Given the description of an element on the screen output the (x, y) to click on. 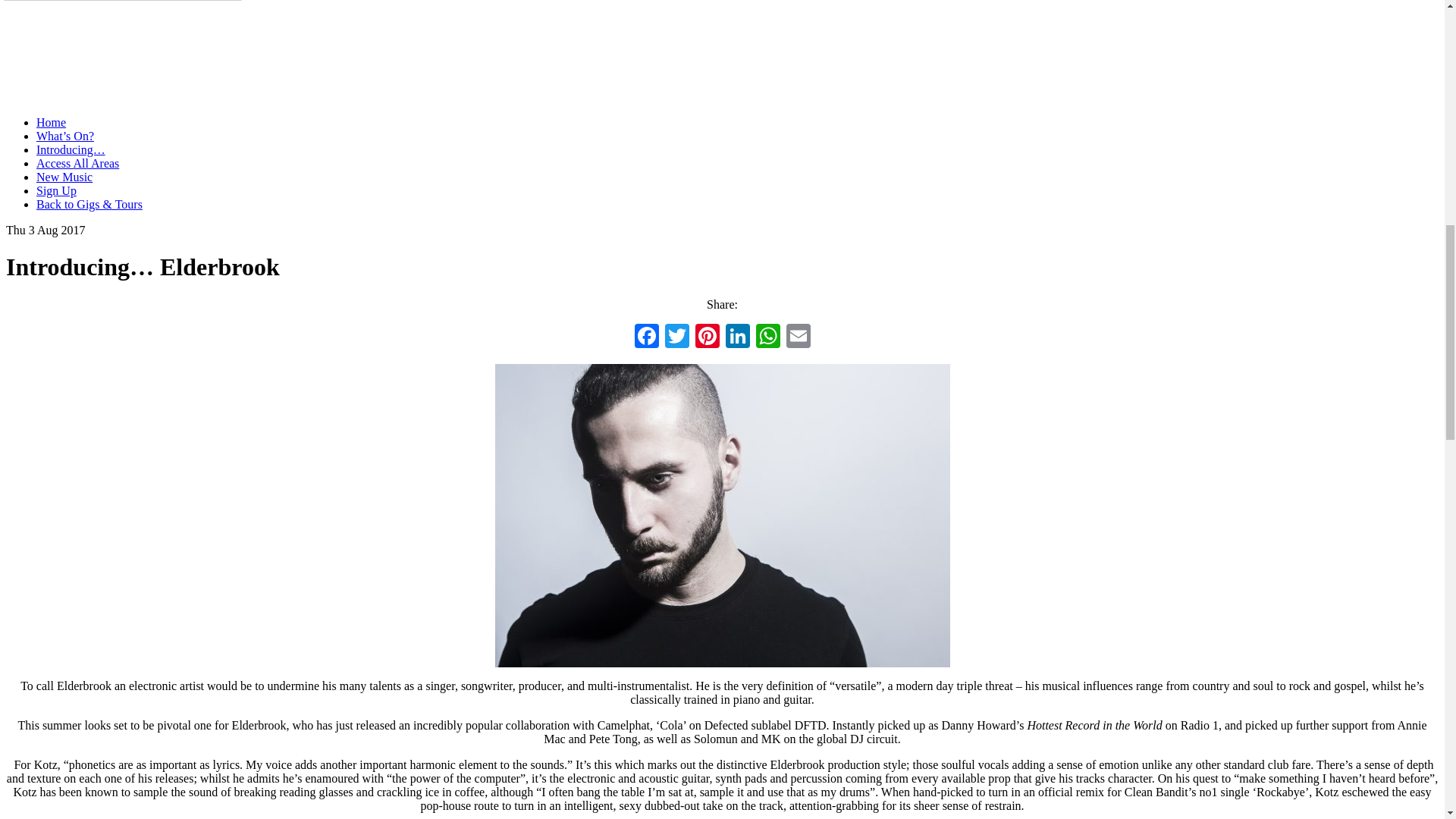
Access All Areas (77, 163)
Twitter (676, 337)
Pinterest (706, 337)
Home (165, 122)
Twitter (676, 337)
Facebook (645, 337)
Sign Up (56, 190)
Email (797, 337)
WhatsApp (767, 337)
LinkedIn (737, 337)
LinkedIn (737, 337)
Pinterest (706, 337)
WhatsApp (767, 337)
Email (797, 337)
New Music (64, 176)
